Given the description of an element on the screen output the (x, y) to click on. 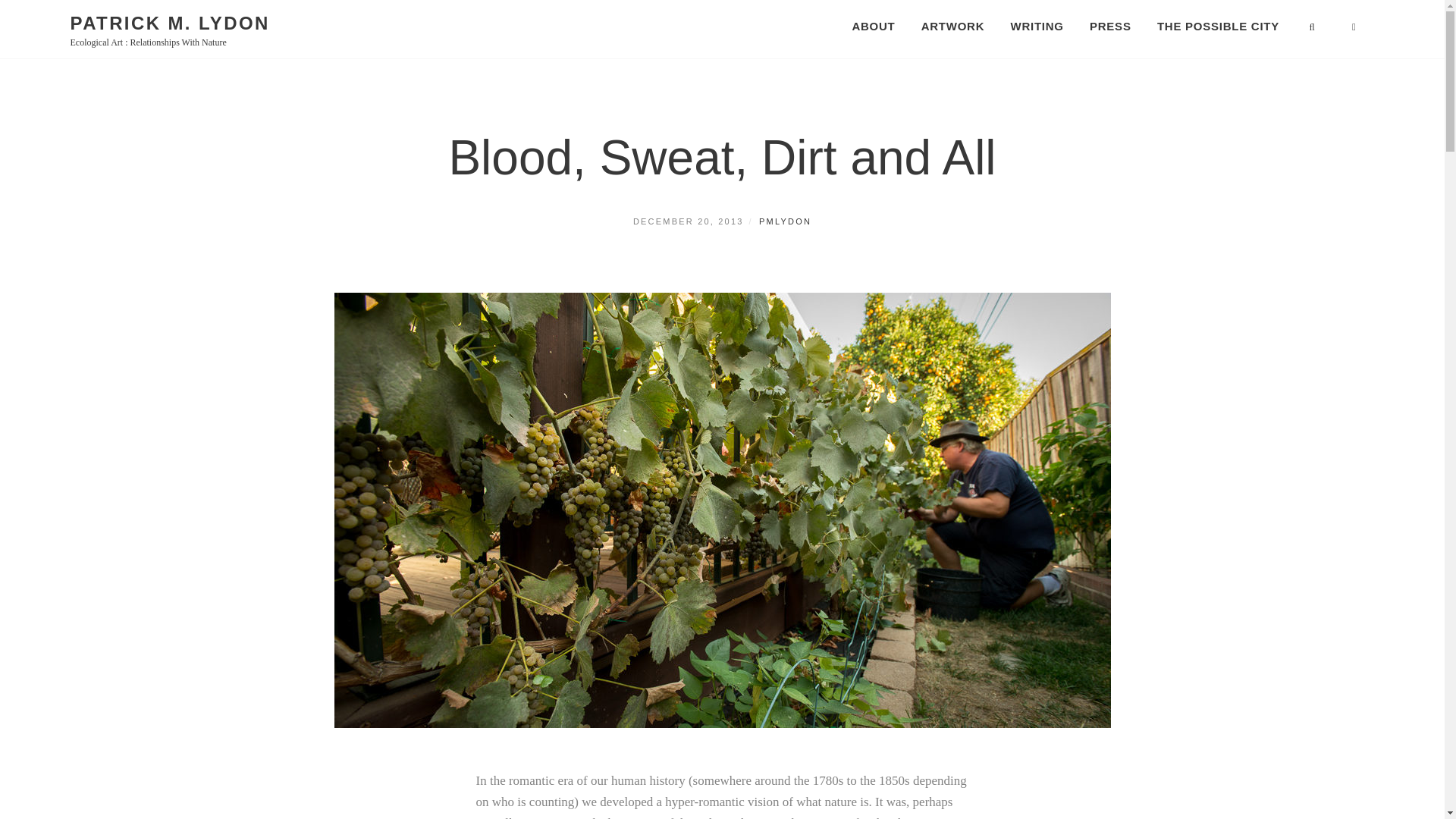
PRESS (1110, 25)
SOCIAL MENU (1355, 26)
THE POSSIBLE CITY (1217, 25)
WRITING (1036, 25)
ARTWORK (952, 25)
PMLYDON (784, 221)
ABOUT (872, 25)
PATRICK M. LYDON (169, 23)
SEARCH (1313, 26)
